Given the description of an element on the screen output the (x, y) to click on. 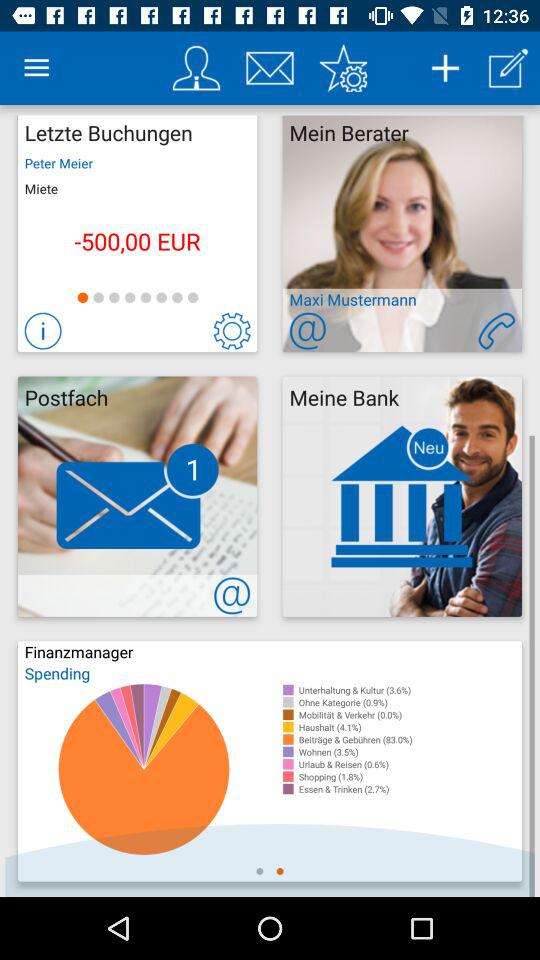
swipe until the unterhaltung kultur 3 icon (409, 689)
